Given the description of an element on the screen output the (x, y) to click on. 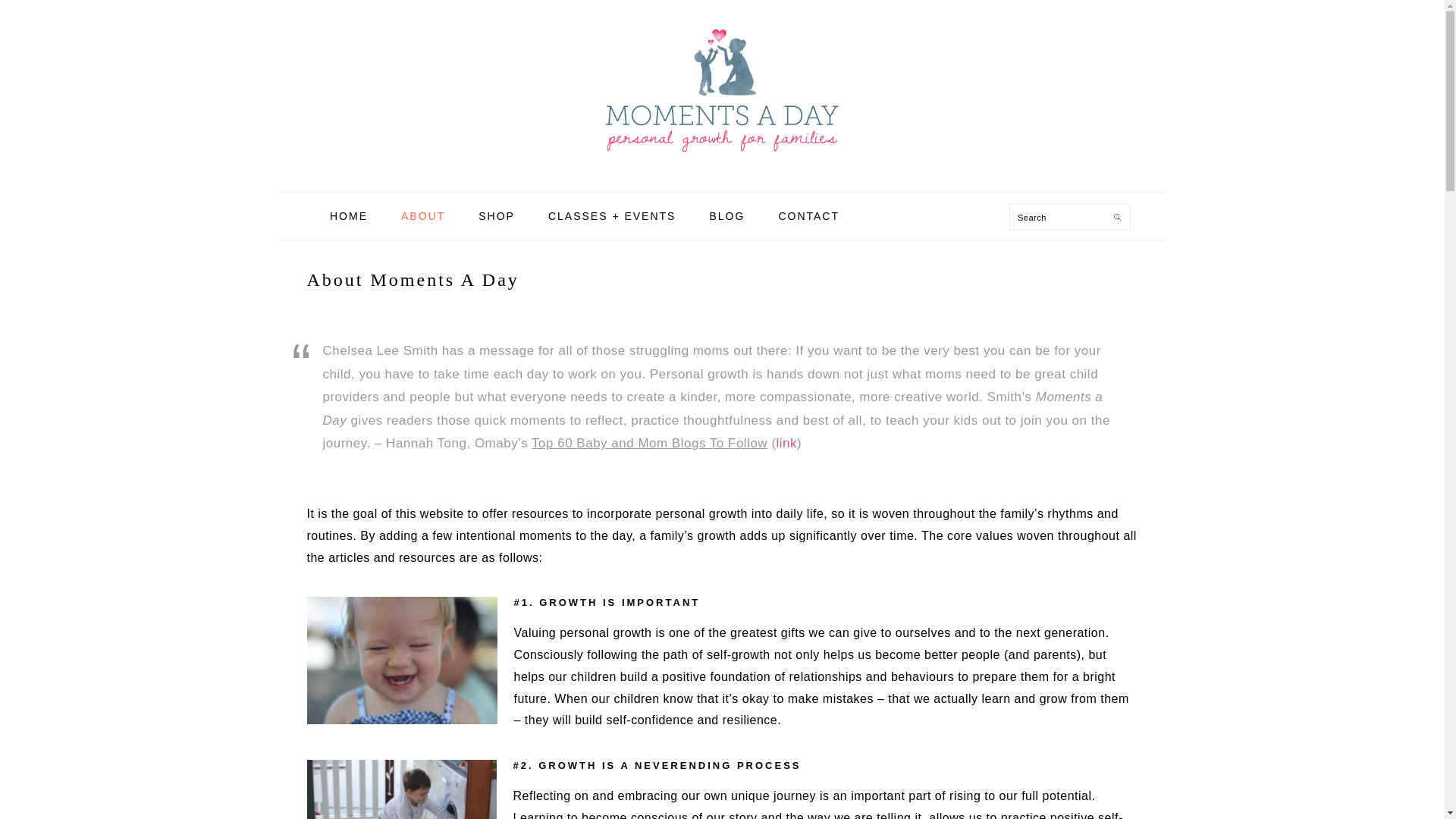
ABOUT (423, 216)
HOME (349, 216)
link (786, 442)
CONTACT (808, 216)
BLOG (726, 216)
SHOP (497, 216)
MOMENTS A DAY (721, 89)
